Given the description of an element on the screen output the (x, y) to click on. 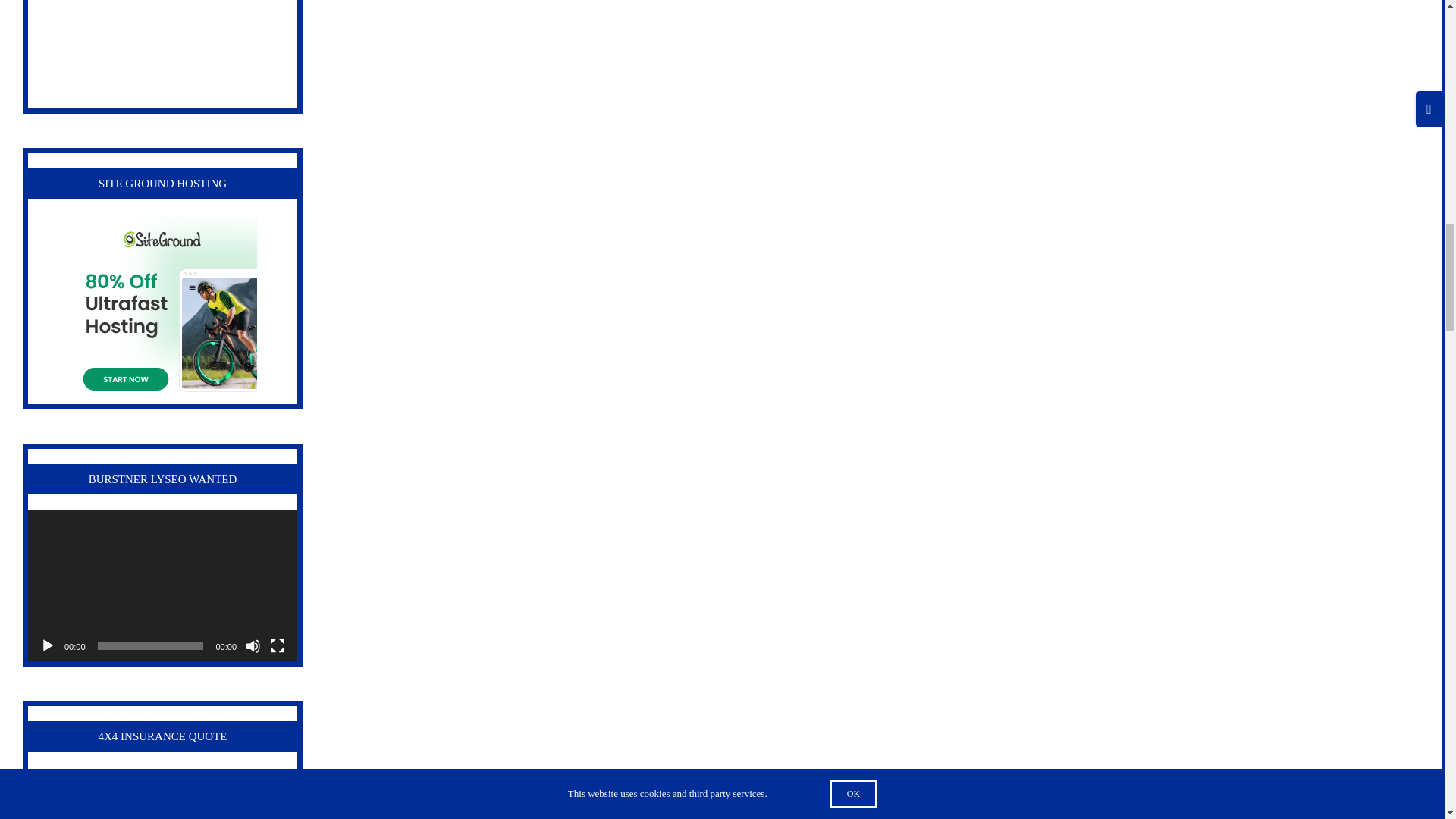
MOTORHOME INSURANCE (162, 54)
